Given the description of an element on the screen output the (x, y) to click on. 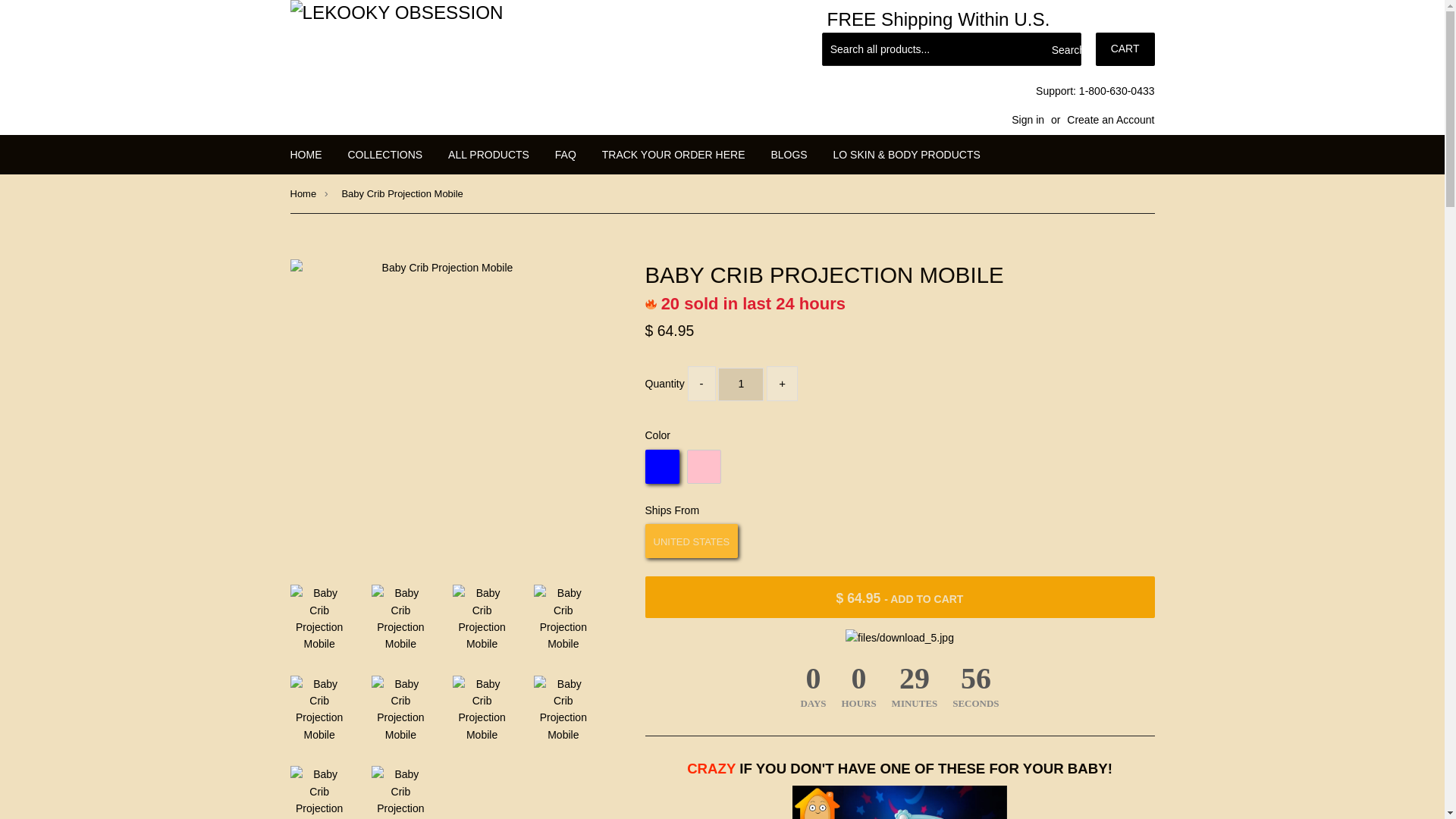
HOME (306, 154)
ALL PRODUCTS (488, 154)
FAQ (565, 154)
Create an Account (1110, 119)
CART (1125, 49)
Search (1063, 50)
Back to the frontpage (302, 194)
Sign in (1027, 119)
1 (739, 384)
COLLECTIONS (384, 154)
